Given the description of an element on the screen output the (x, y) to click on. 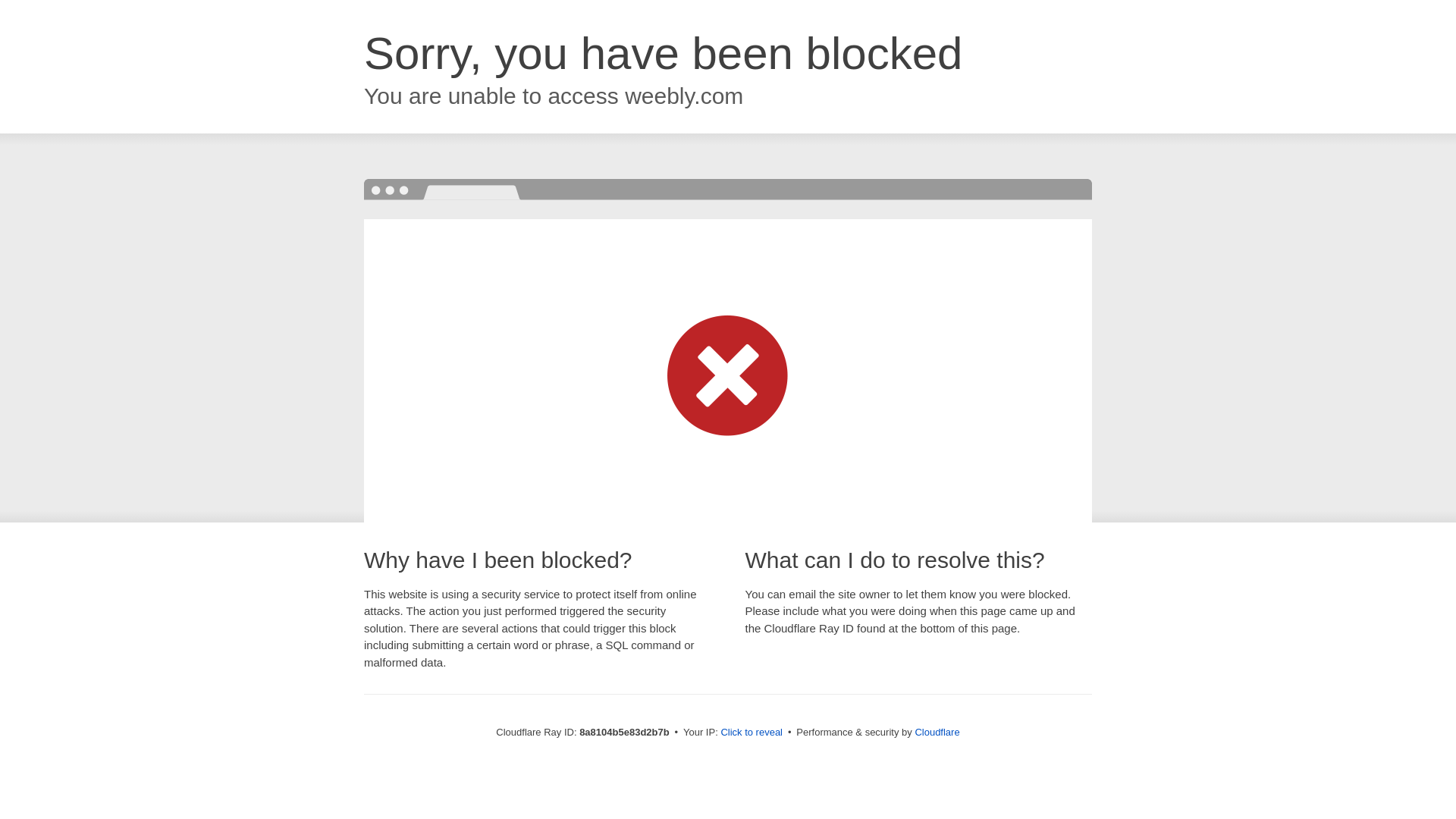
Click to reveal (751, 732)
Cloudflare (936, 731)
